Given the description of an element on the screen output the (x, y) to click on. 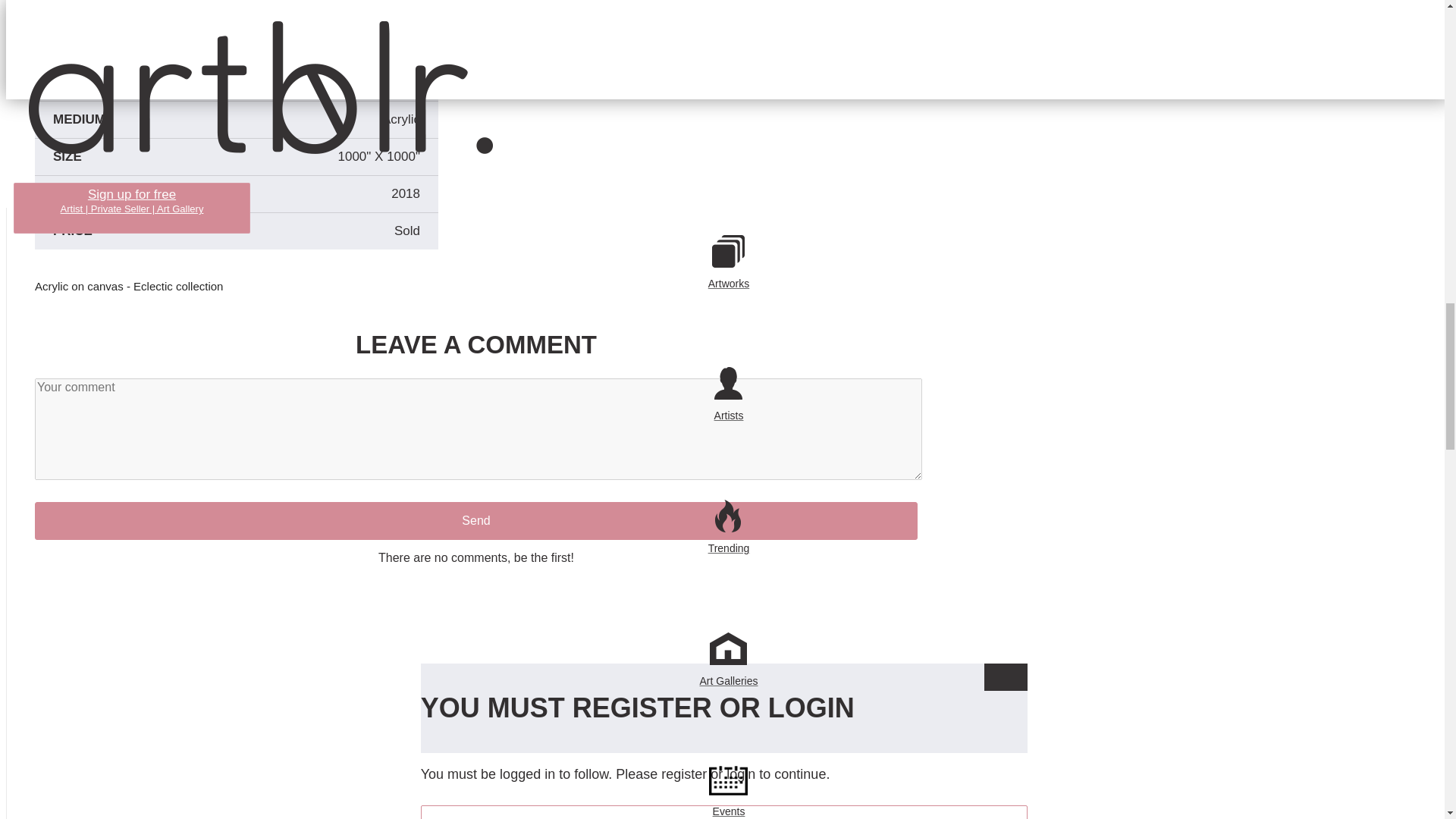
Send (475, 520)
